Given the description of an element on the screen output the (x, y) to click on. 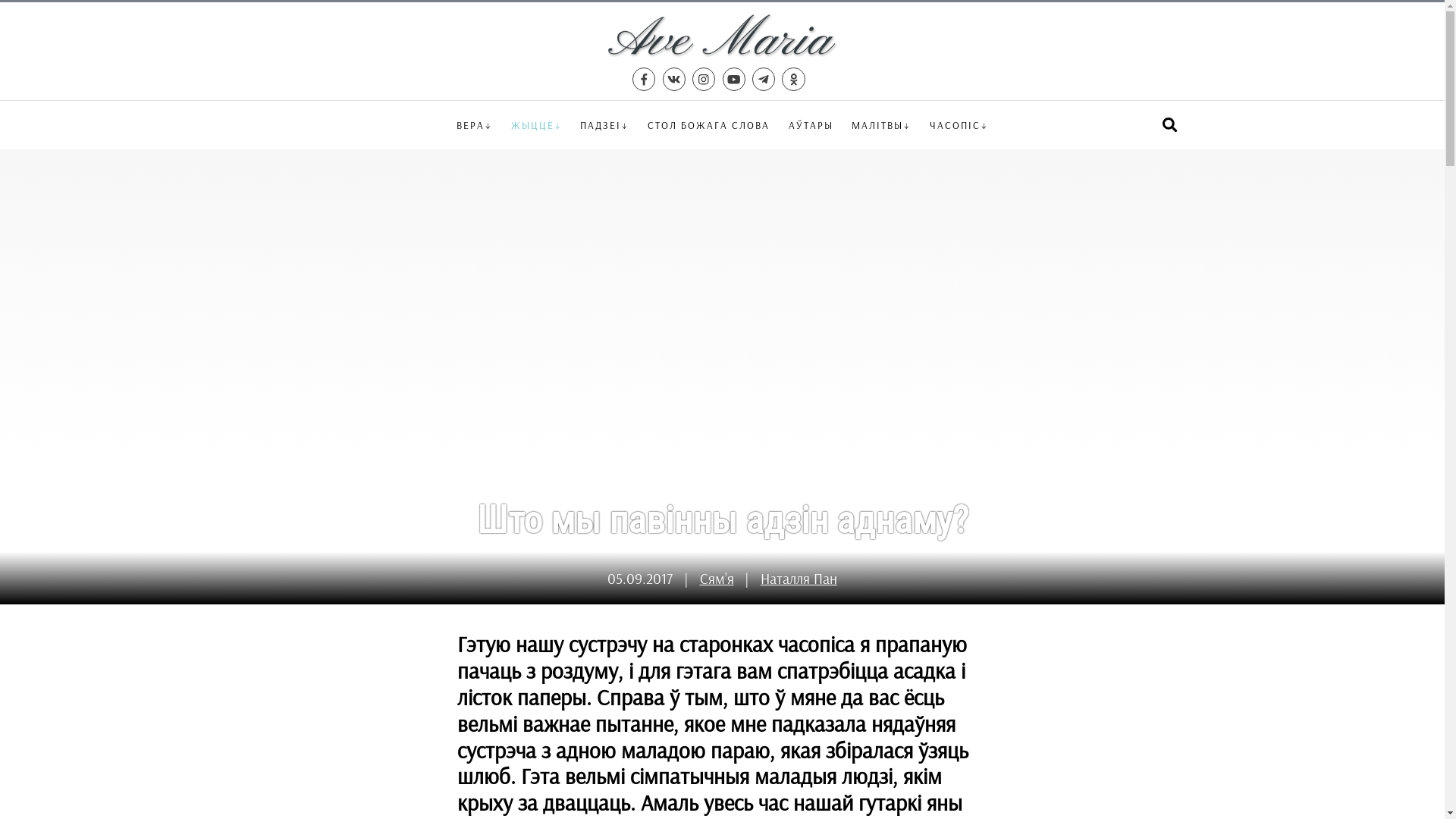
OK Element type: hover (792, 78)
VK Element type: hover (673, 78)
Facebook Element type: hover (643, 78)
Youtube Element type: hover (732, 78)
Telegram Element type: hover (763, 78)
Instagram Element type: hover (703, 78)
